Given the description of an element on the screen output the (x, y) to click on. 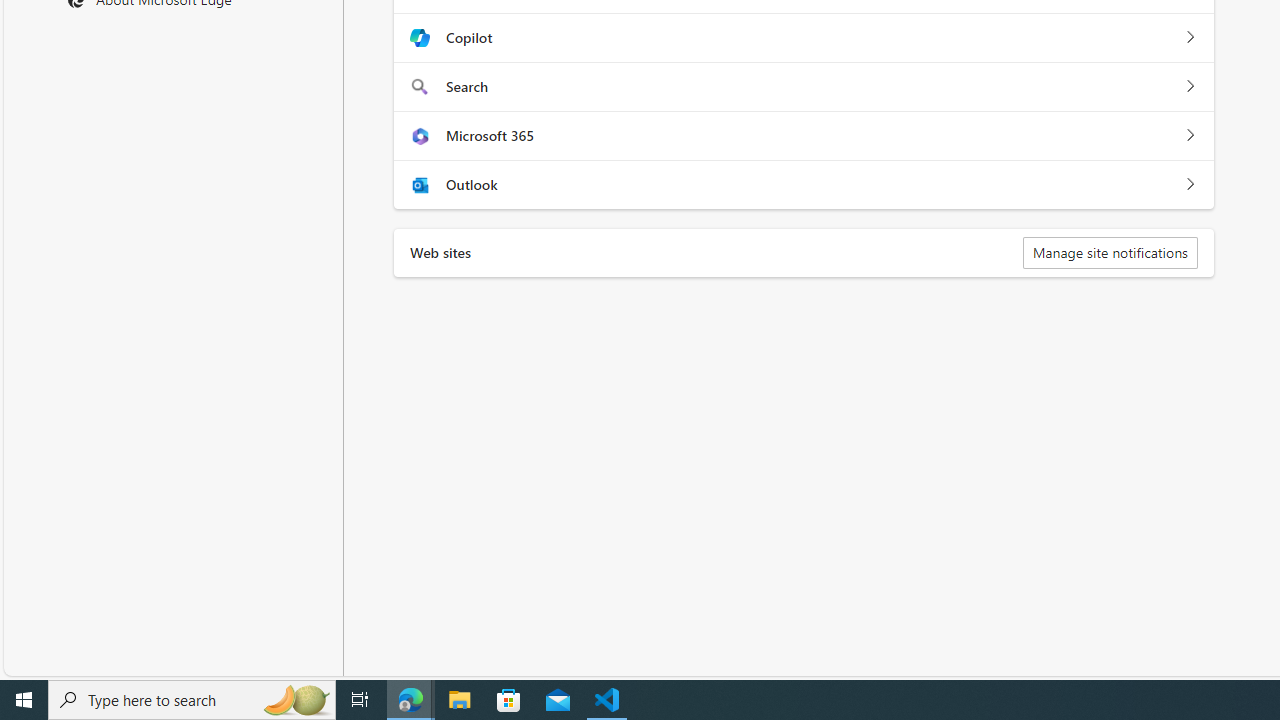
Copilot (1190, 38)
Manage site notifications (1109, 252)
